Given the description of an element on the screen output the (x, y) to click on. 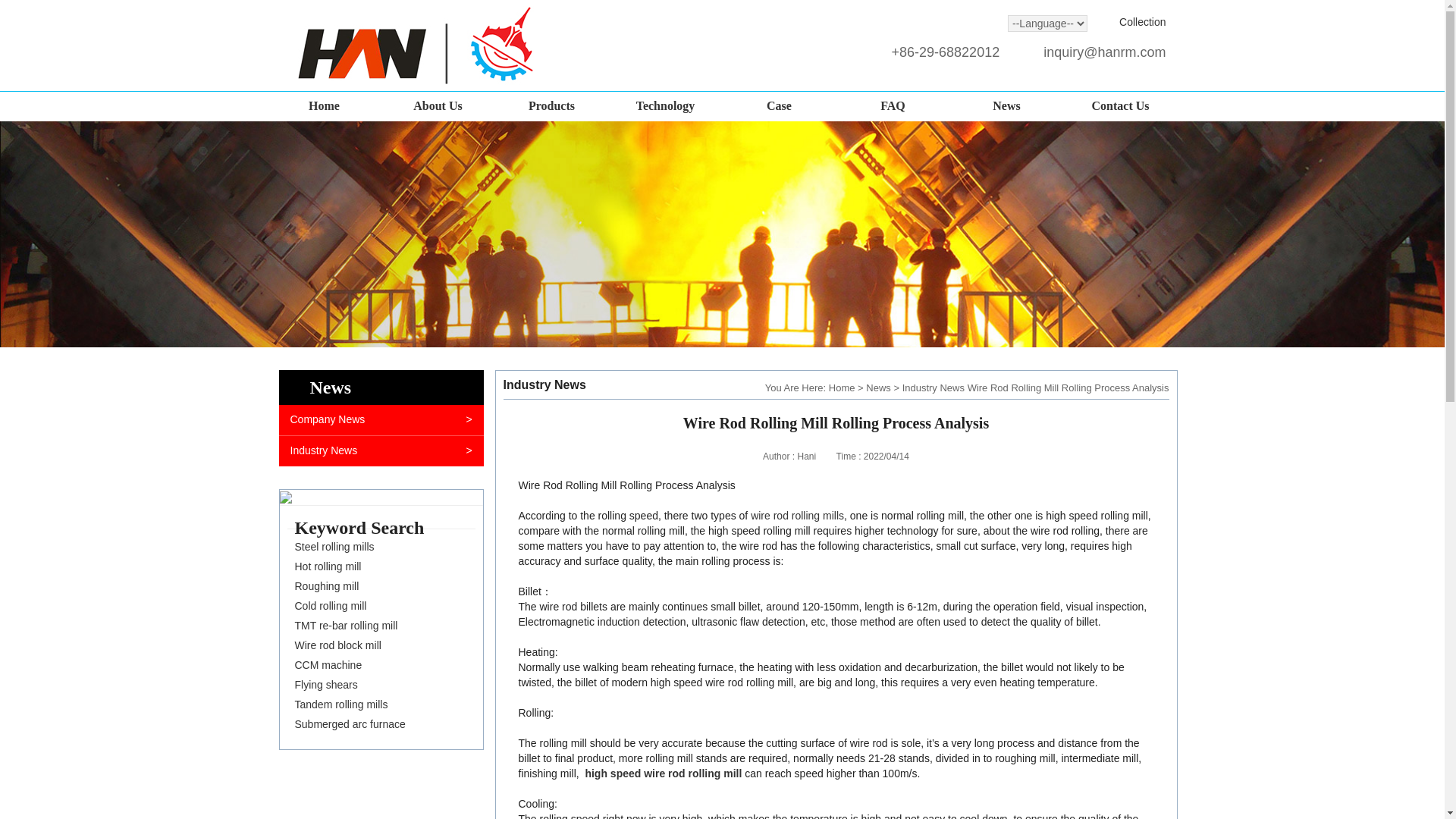
Collection (1142, 21)
About Us (437, 106)
Products (551, 106)
About Us (437, 106)
Home (323, 106)
Products (551, 106)
